Given the description of an element on the screen output the (x, y) to click on. 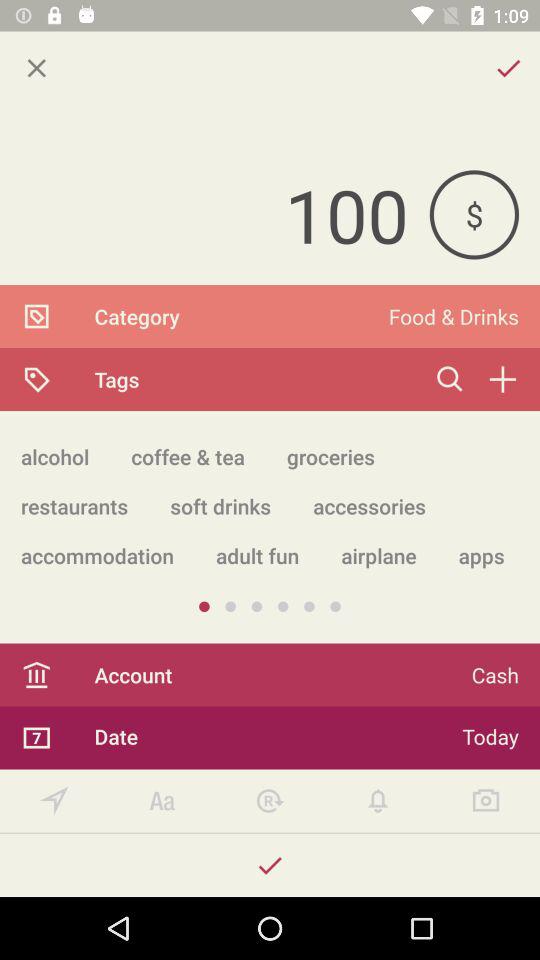
open airplane (378, 555)
